Given the description of an element on the screen output the (x, y) to click on. 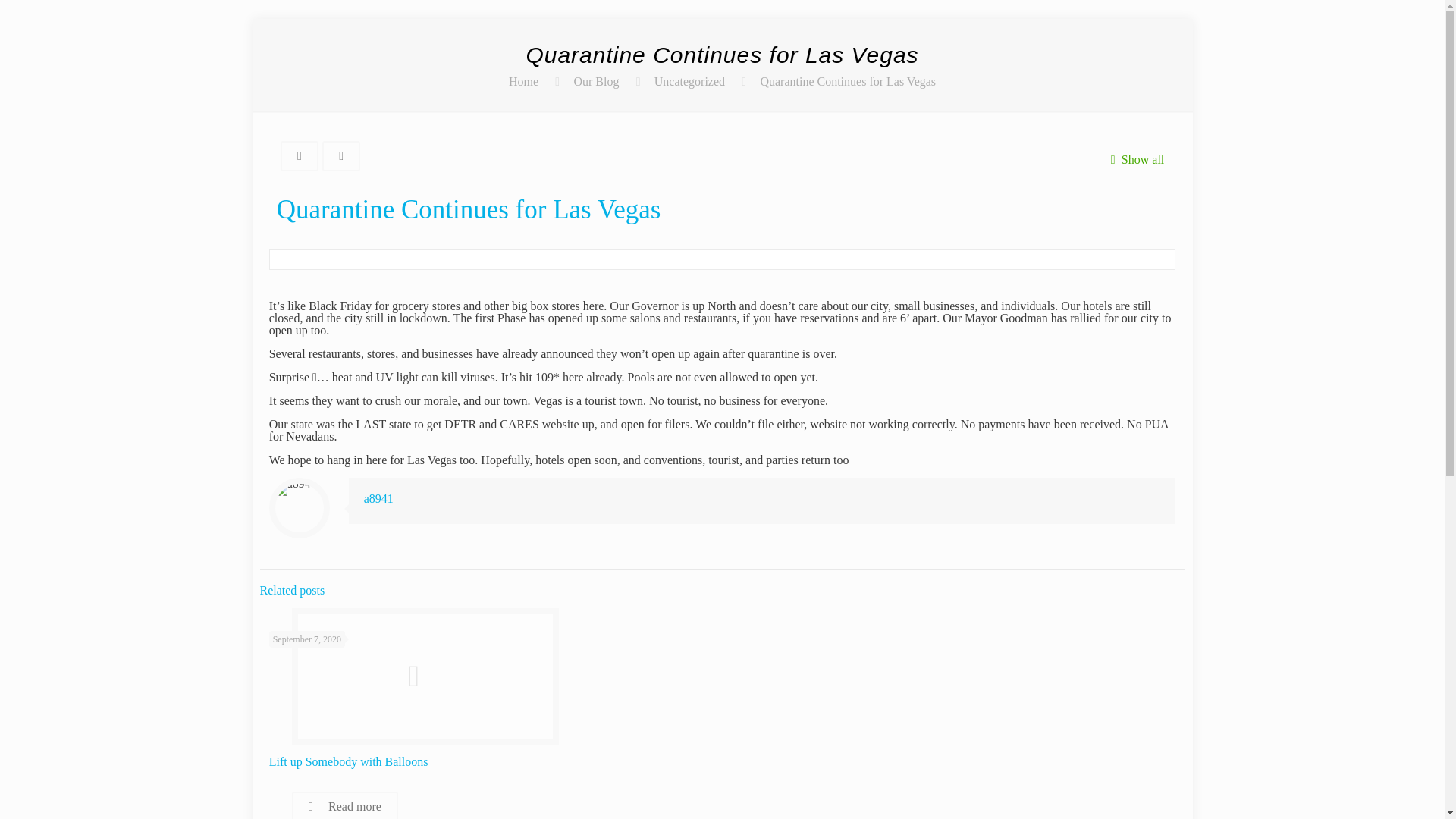
Uncategorized (689, 81)
Quarantine Continues for Las Vegas (848, 81)
Home (523, 81)
Read more (344, 805)
Our Blog (595, 81)
Lift up Somebody with Balloons (348, 761)
Show all (1133, 159)
a8941 (378, 498)
